Given the description of an element on the screen output the (x, y) to click on. 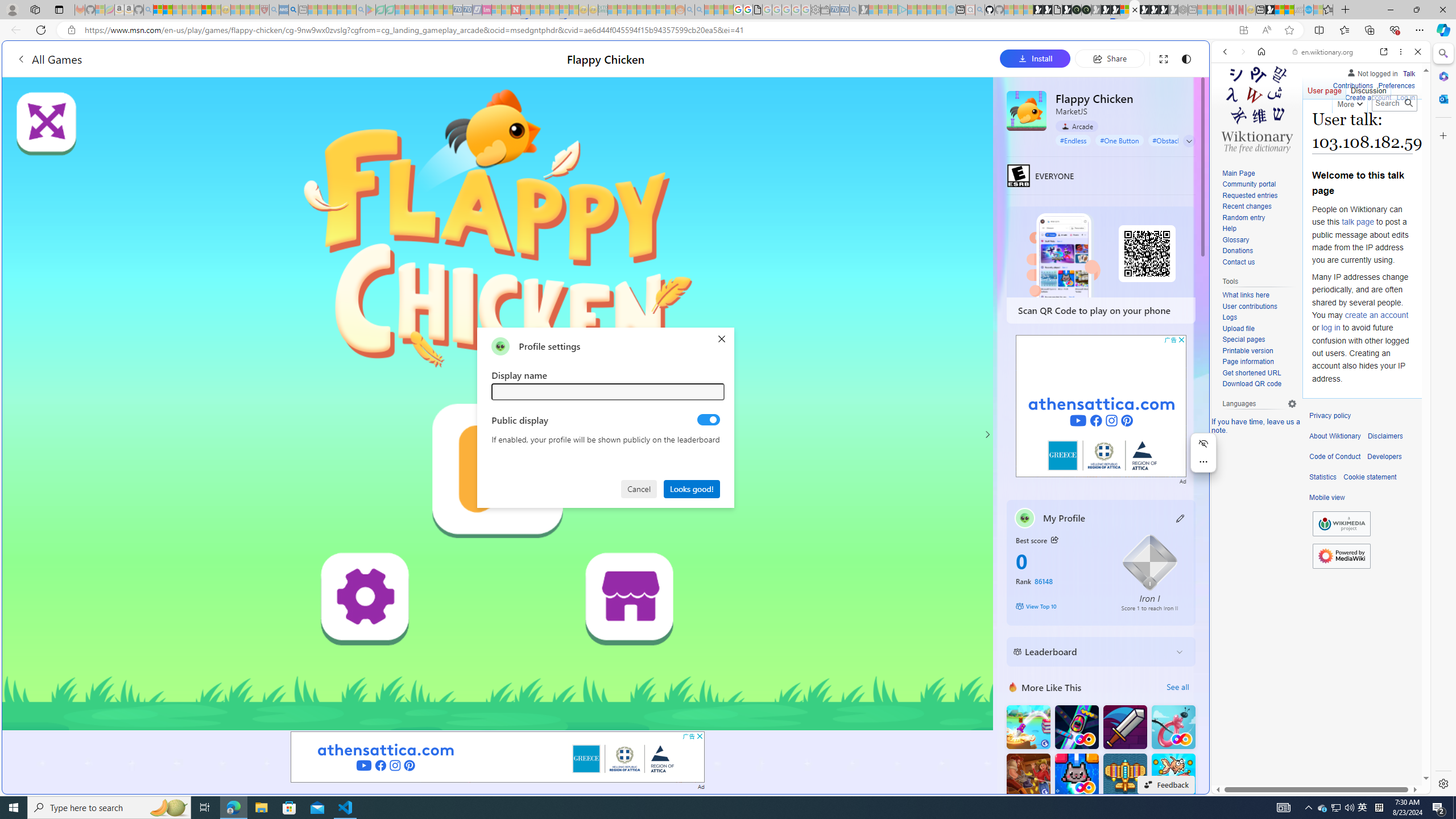
Search the web (1326, 78)
""'s avatar (500, 345)
Special pages (1259, 339)
App available. Install Flappy Chicken (1243, 29)
Play Cave FRVR in your browser | Games from Microsoft Start (1105, 9)
More (1349, 101)
log in (1330, 327)
DITOGAMES AG Imprint - Sleeping (602, 9)
Requested entries (1249, 194)
create an account (1376, 314)
Talk (1408, 71)
